Given the description of an element on the screen output the (x, y) to click on. 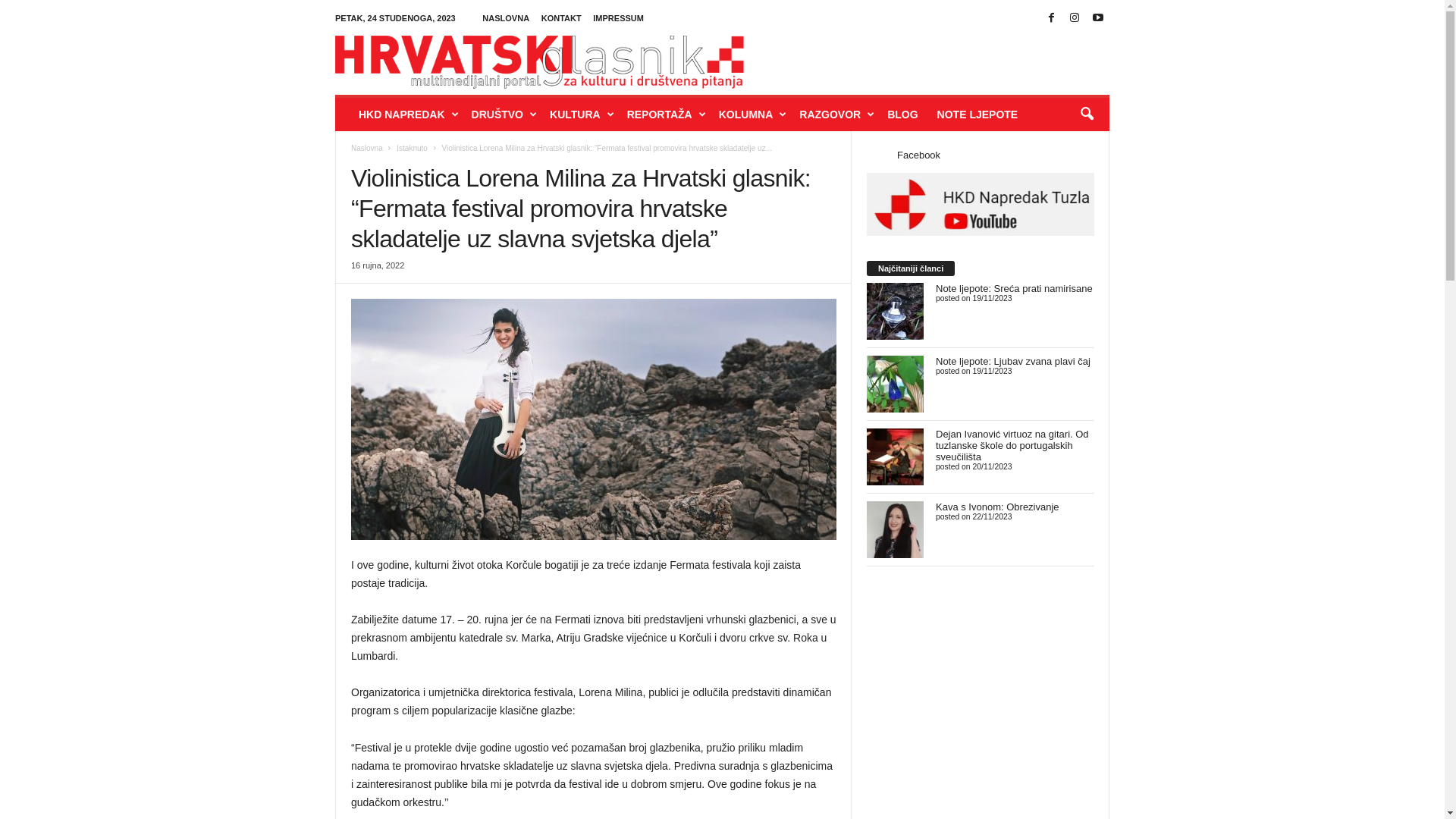
thumbnail_11194399_898623806845486_4095086783057198977_o Element type: hover (593, 418)
NOTE LJEPOTE Element type: text (979, 114)
KULTURA Element type: text (580, 114)
Facebook Element type: hover (1051, 18)
BLOG Element type: text (903, 114)
Hrvatski Glasnik Element type: hover (539, 61)
NASLOVNA Element type: text (505, 17)
RAZGOVOR Element type: text (835, 114)
Instagram Element type: hover (1074, 18)
IMPRESSUM Element type: text (618, 17)
Naslovna Element type: text (366, 148)
KONTAKT Element type: text (561, 17)
Facebook Element type: text (918, 154)
Kava s Ivonom: Obrezivanje Element type: text (997, 505)
Youtube Element type: hover (1097, 18)
HKD NAPREDAK Element type: text (407, 114)
Istaknuto Element type: text (411, 148)
KOLUMNA Element type: text (751, 114)
Hrvatski Glasnik Element type: text (722, 58)
